Given the description of an element on the screen output the (x, y) to click on. 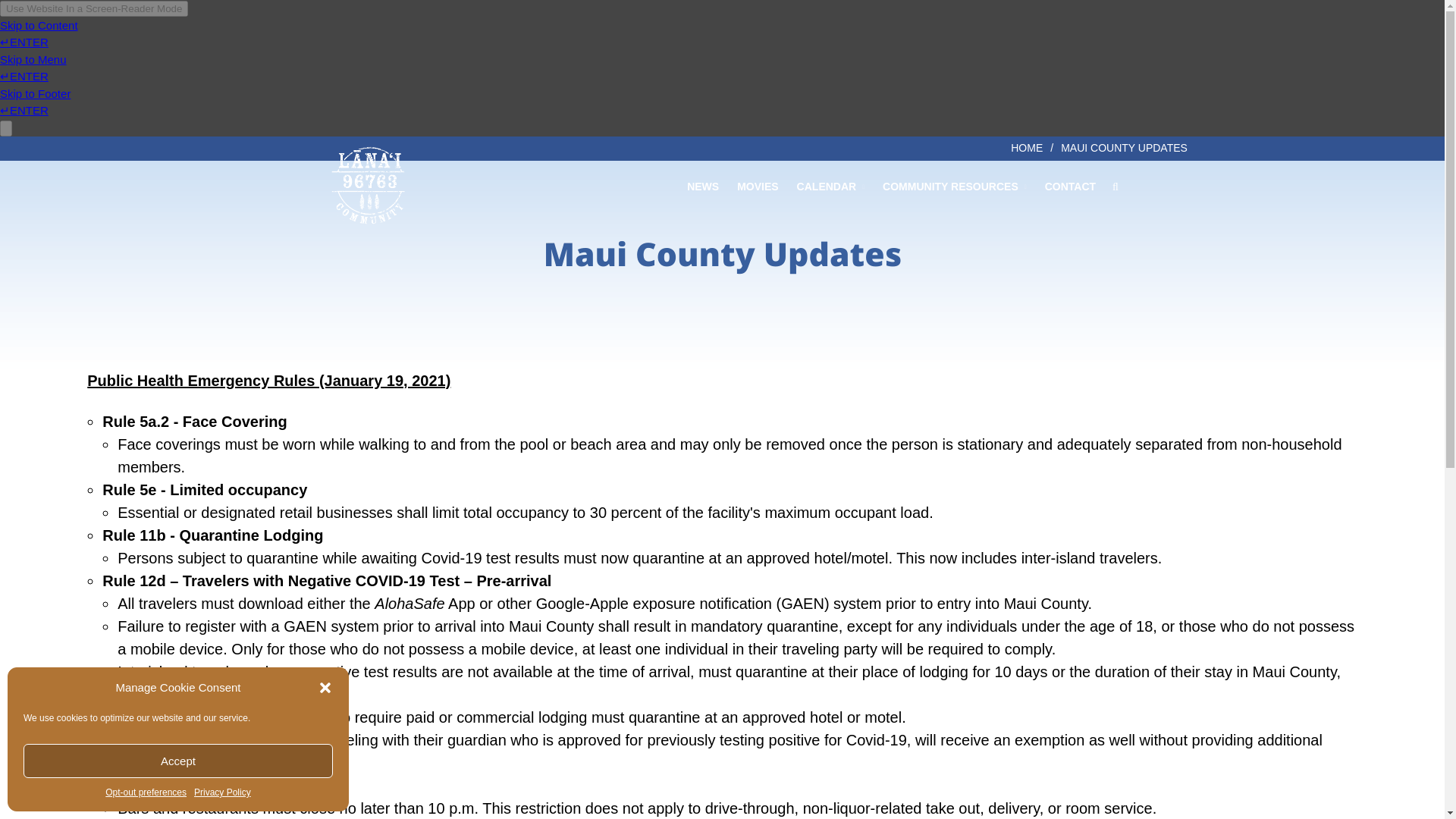
Privacy Policy (221, 792)
MOVIES (757, 185)
NEWS (702, 185)
COMMUNITY RESOURCES (954, 185)
Accept (178, 760)
CONTACT (1069, 185)
Lanai 96763 (466, 196)
CALENDAR (830, 185)
Opt-out preferences (145, 792)
